Given the description of an element on the screen output the (x, y) to click on. 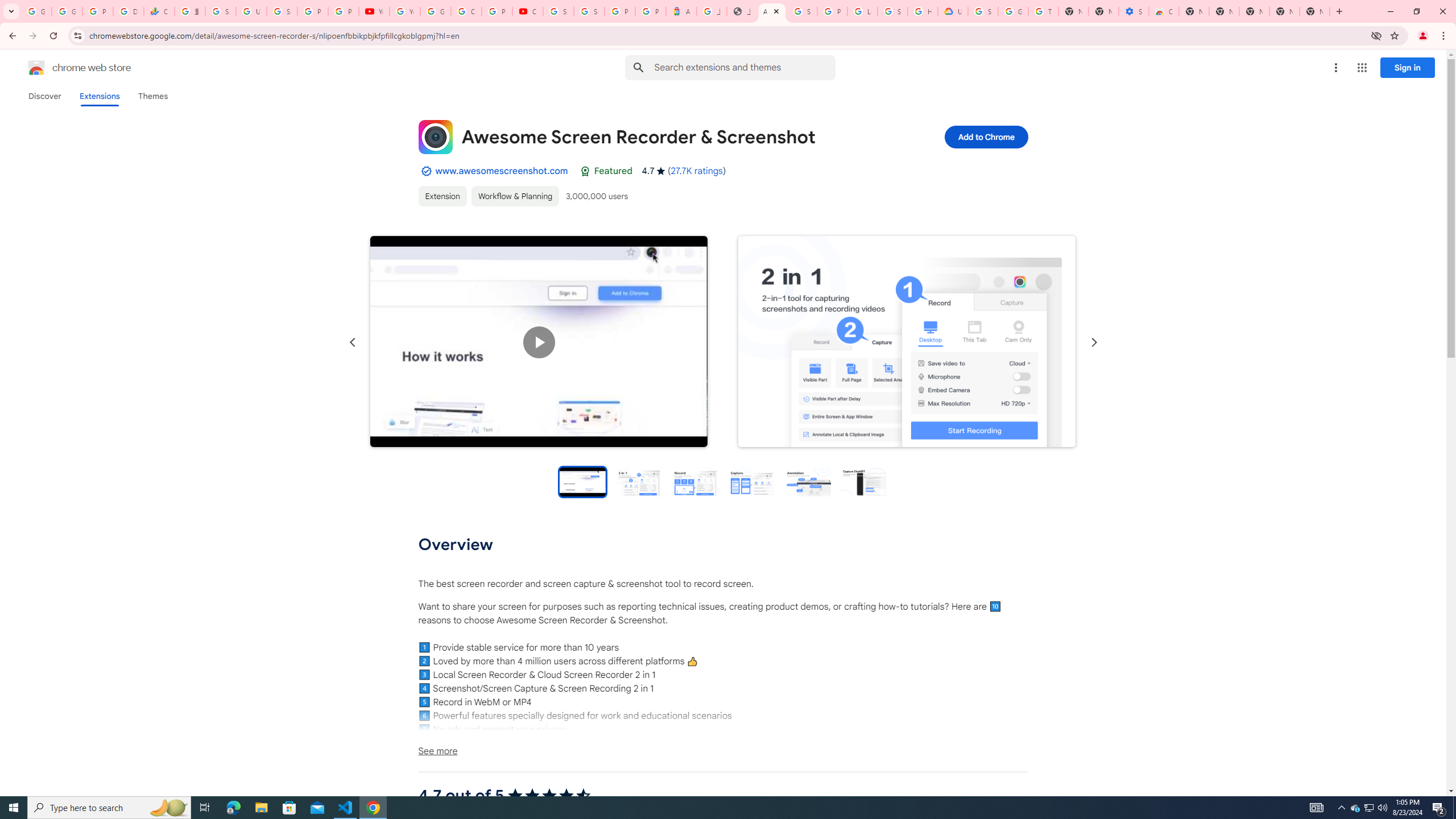
Chrome Web Store logo chrome web store (67, 67)
Preview slide 4 (751, 481)
Sign in - Google Accounts (282, 11)
More options menu (1335, 67)
27.7K ratings (696, 170)
Currencies - Google Finance (158, 11)
YouTube (373, 11)
Privacy Checkup (343, 11)
Awesome Screen Recorder & Screenshot - Chrome Web Store (771, 11)
